Given the description of an element on the screen output the (x, y) to click on. 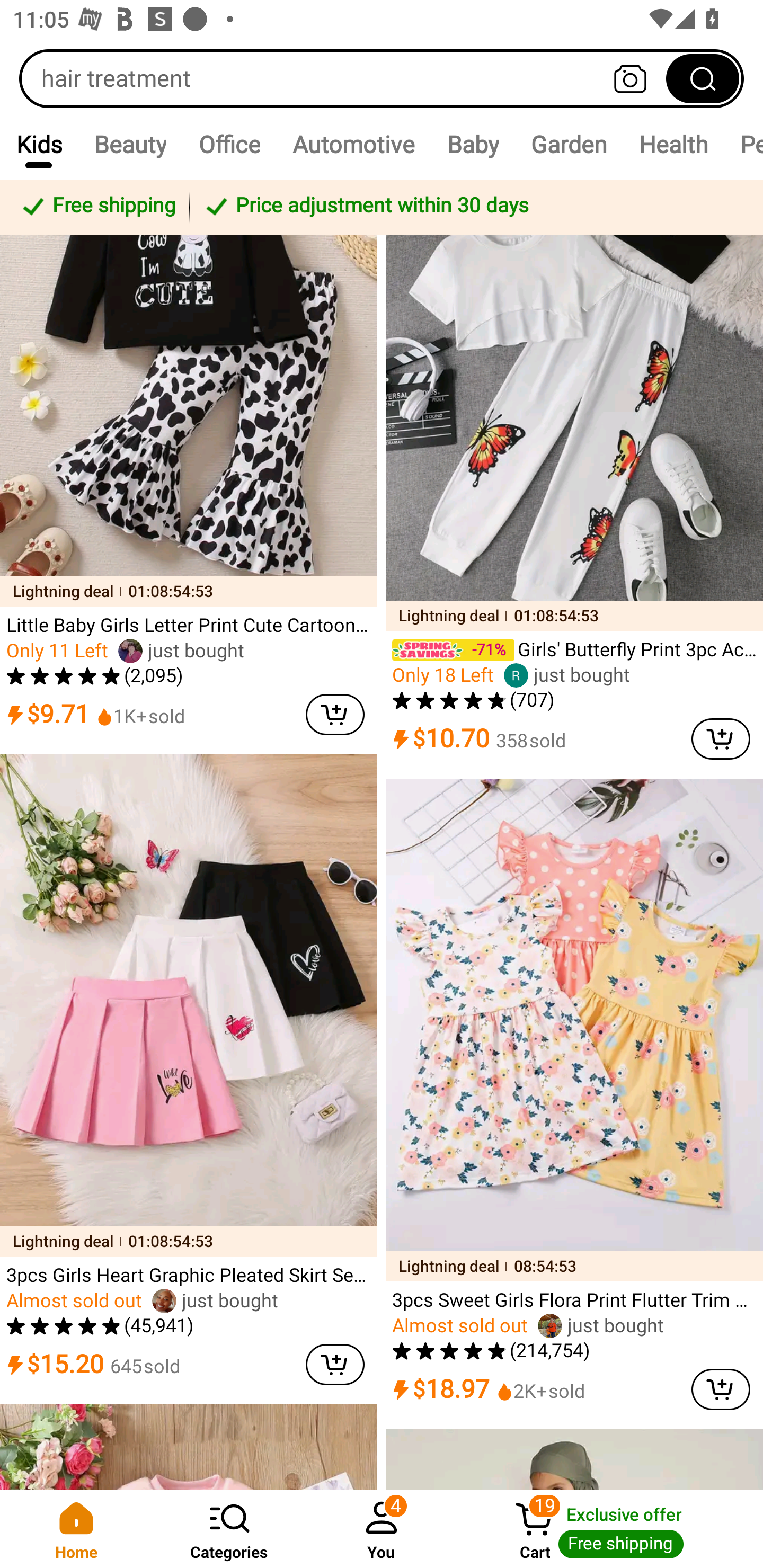
hair treatment (381, 78)
Kids (38, 144)
Beauty (129, 144)
Office (229, 144)
Automotive (353, 144)
Baby (472, 144)
Garden (568, 144)
Health (673, 144)
Free shipping (97, 206)
Price adjustment within 30 days (472, 206)
cart delete (334, 714)
cart delete (720, 738)
cart delete (334, 1363)
cart delete (720, 1388)
Home (76, 1528)
Categories (228, 1528)
You 4 You (381, 1528)
Cart 19 Cart Exclusive offer (610, 1528)
